Given the description of an element on the screen output the (x, y) to click on. 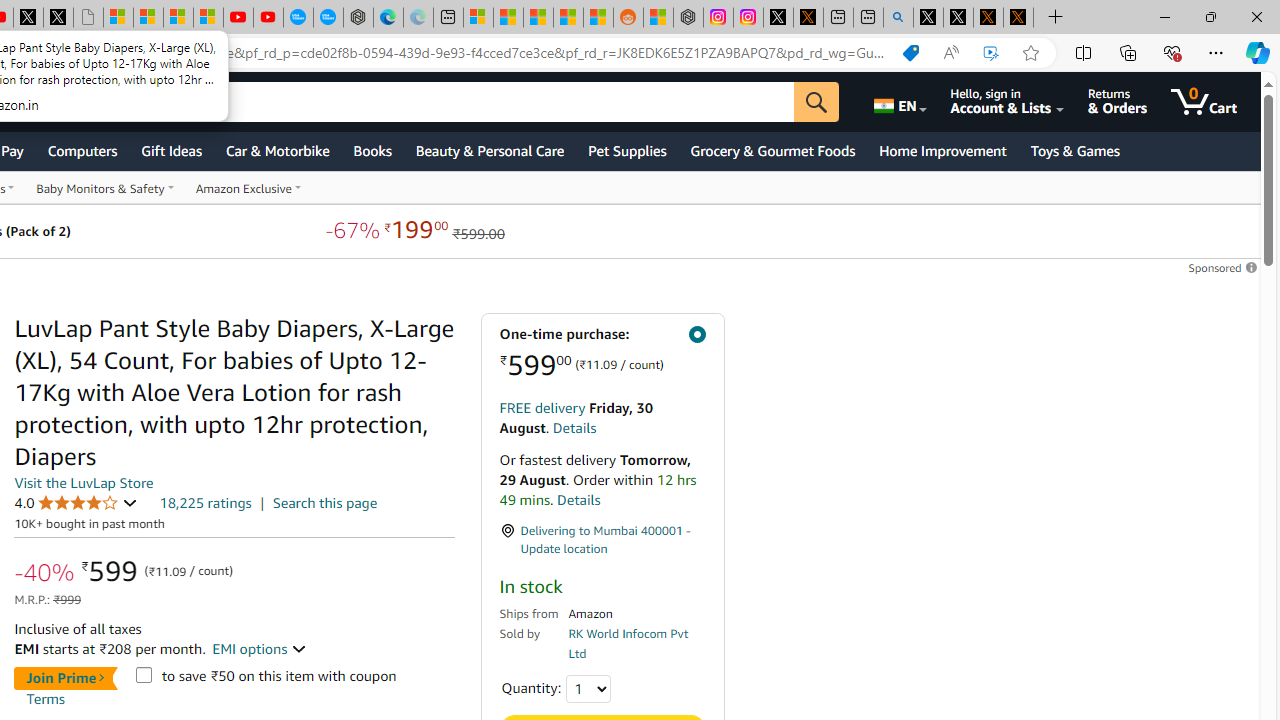
Microsoft account | Microsoft Account Privacy Settings (477, 17)
Nordace - Summer Adventures 2024 (688, 17)
Log in to X / X (778, 17)
Shanghai, China weather forecast | Microsoft Weather (508, 17)
Gloom - YouTube (238, 17)
Enhance video (991, 53)
github - Search (898, 17)
Profile / X (928, 17)
YouTube Kids - An App Created for Kids to Explore Content (267, 17)
Nordace - Nordace has arrived Hong Kong (358, 17)
Shanghai, China hourly forecast | Microsoft Weather (537, 17)
